Given the description of an element on the screen output the (x, y) to click on. 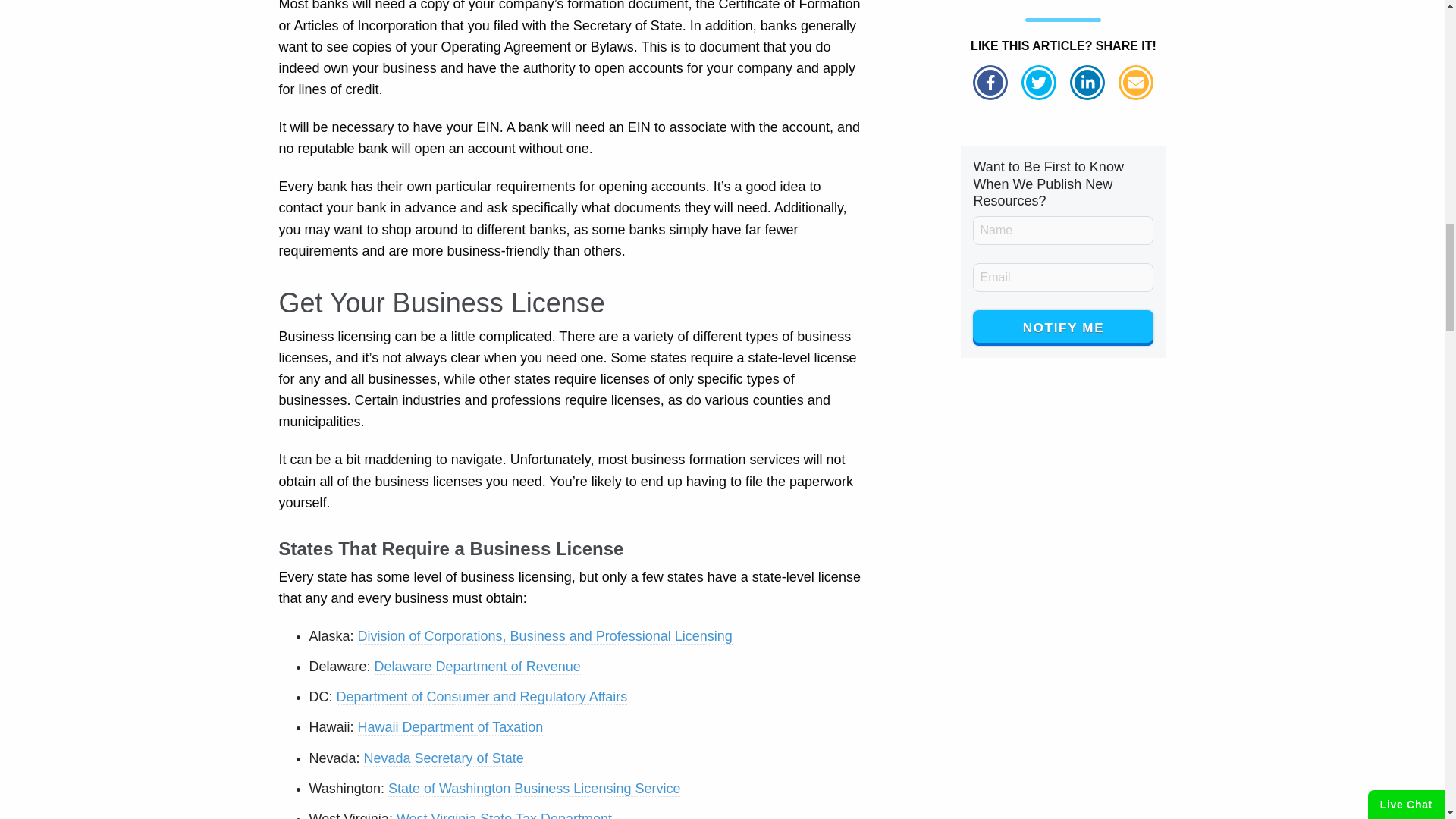
State of Washington Business Licensing Service (534, 788)
Nevada Secretary of State (444, 758)
Department of Consumer and Regulatory Affairs (481, 697)
Delaware Department of Revenue (477, 666)
Hawaii Department of Taxation (450, 727)
West Virginia State Tax Department (503, 815)
